Given the description of an element on the screen output the (x, y) to click on. 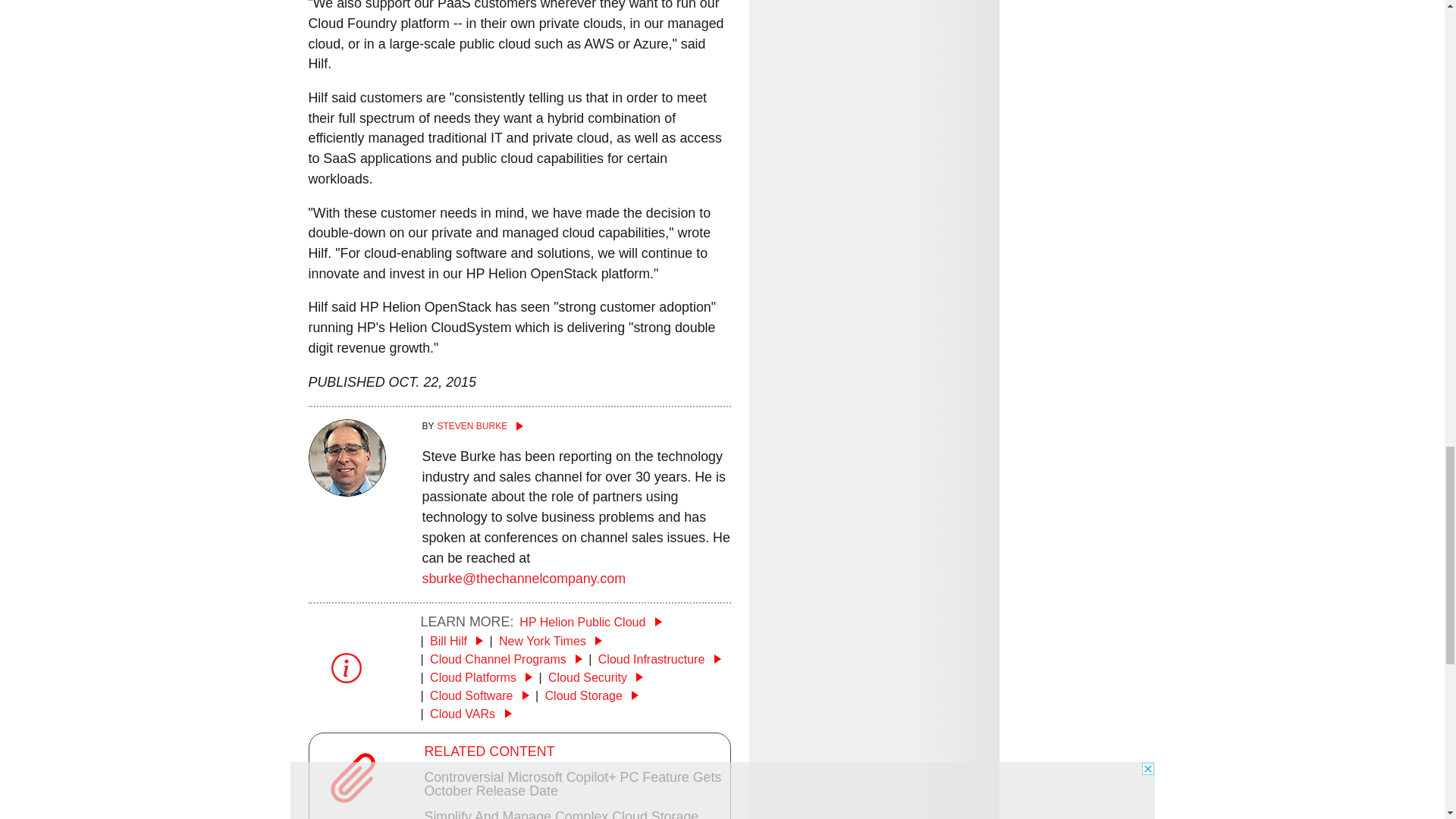
Cloud Channel Programs (505, 658)
HP Helion Public Cloud (590, 621)
Bill Hilf (456, 640)
Cloud Security (595, 676)
New York Times (550, 640)
Cloud Platforms (480, 676)
Steven Burke (576, 426)
Cloud Software (479, 695)
Cloud Storage (591, 695)
